Given the description of an element on the screen output the (x, y) to click on. 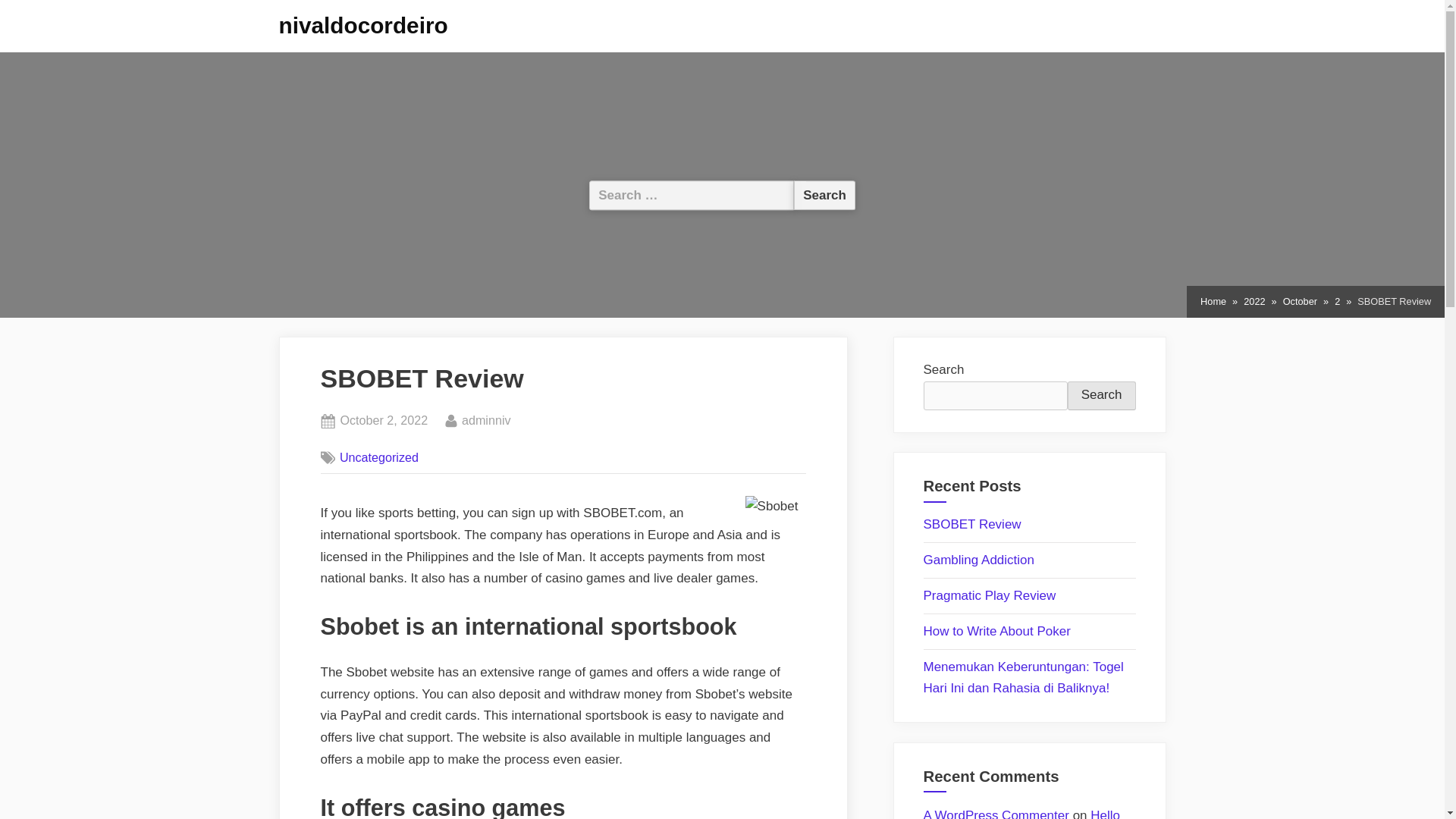
How to Write About Poker (996, 631)
Pragmatic Play Review (990, 595)
Hello world! (1022, 813)
Search (1101, 395)
Search (824, 194)
October (1299, 301)
SBOBET Review (972, 523)
Uncategorized (379, 457)
A WordPress Commenter (486, 420)
